Given the description of an element on the screen output the (x, y) to click on. 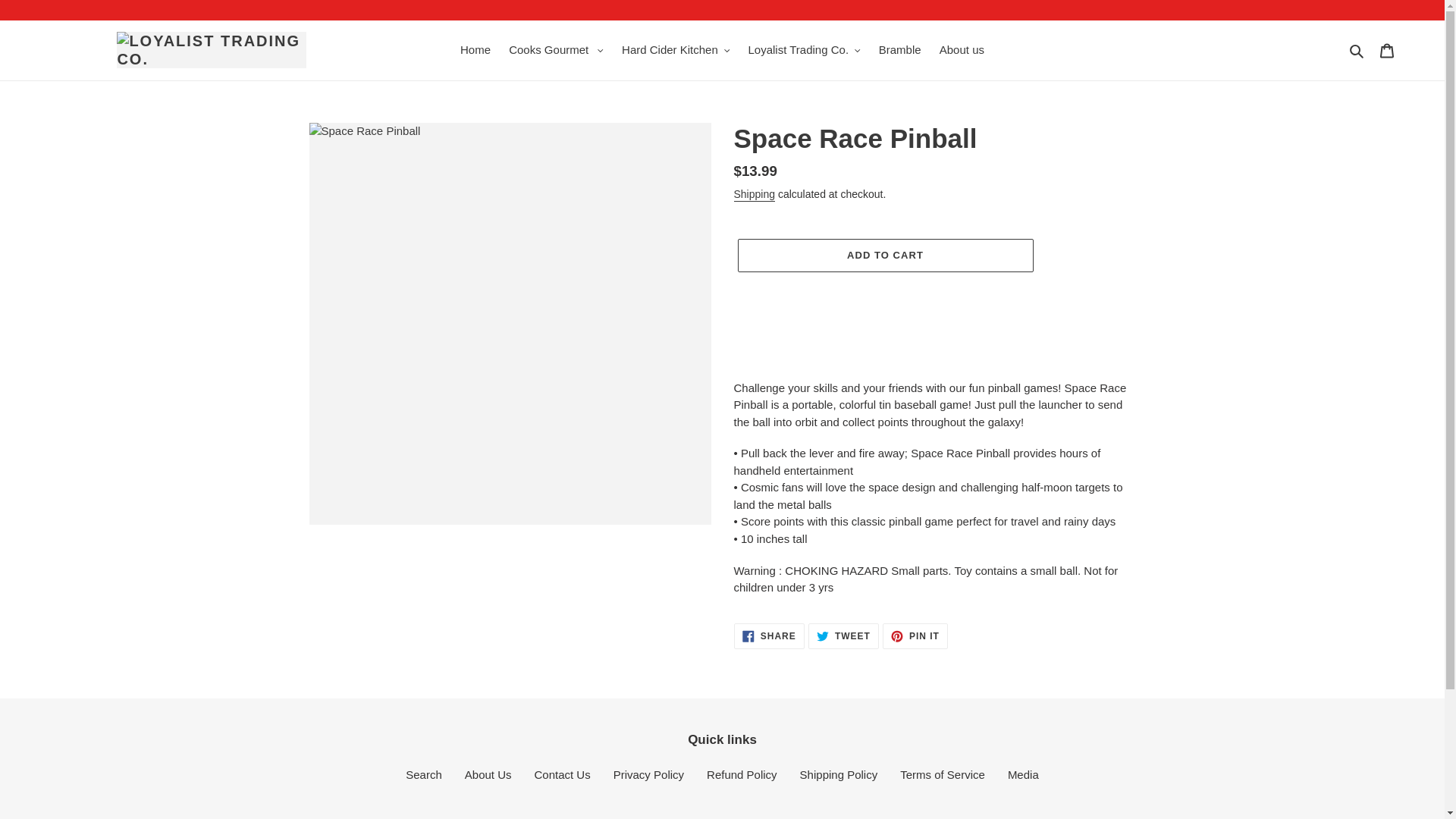
About us (961, 50)
Cart (1387, 50)
Bramble (899, 50)
Search (1357, 49)
Home (474, 50)
Hard Cider Kitchen (675, 50)
Loyalist Trading Co. (803, 50)
Cooks Gourmet (555, 50)
